Given the description of an element on the screen output the (x, y) to click on. 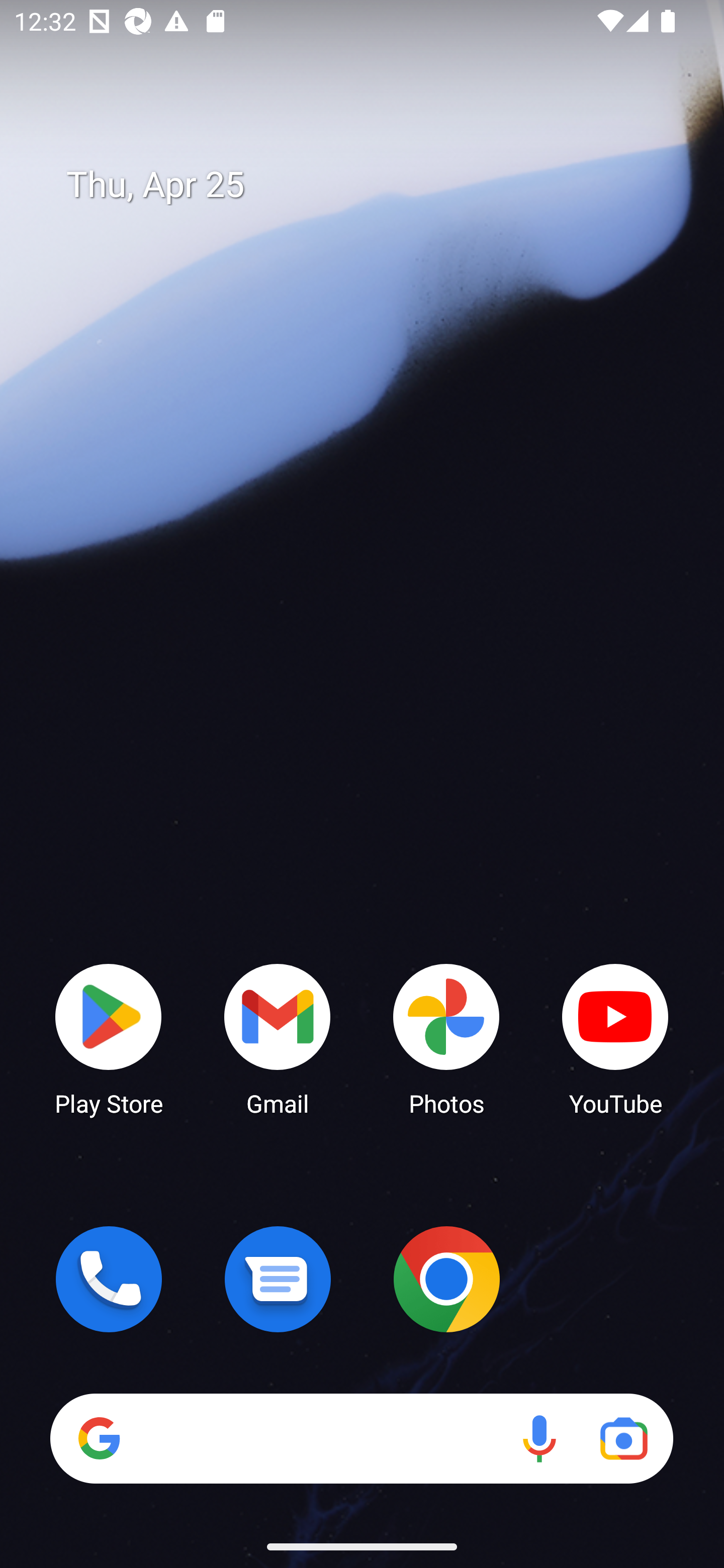
Thu, Apr 25 (375, 184)
Play Store (108, 1038)
Gmail (277, 1038)
Photos (445, 1038)
YouTube (615, 1038)
Phone (108, 1279)
Messages (277, 1279)
Chrome (446, 1279)
Search Voice search Google Lens (361, 1438)
Voice search (539, 1438)
Google Lens (623, 1438)
